Given the description of an element on the screen output the (x, y) to click on. 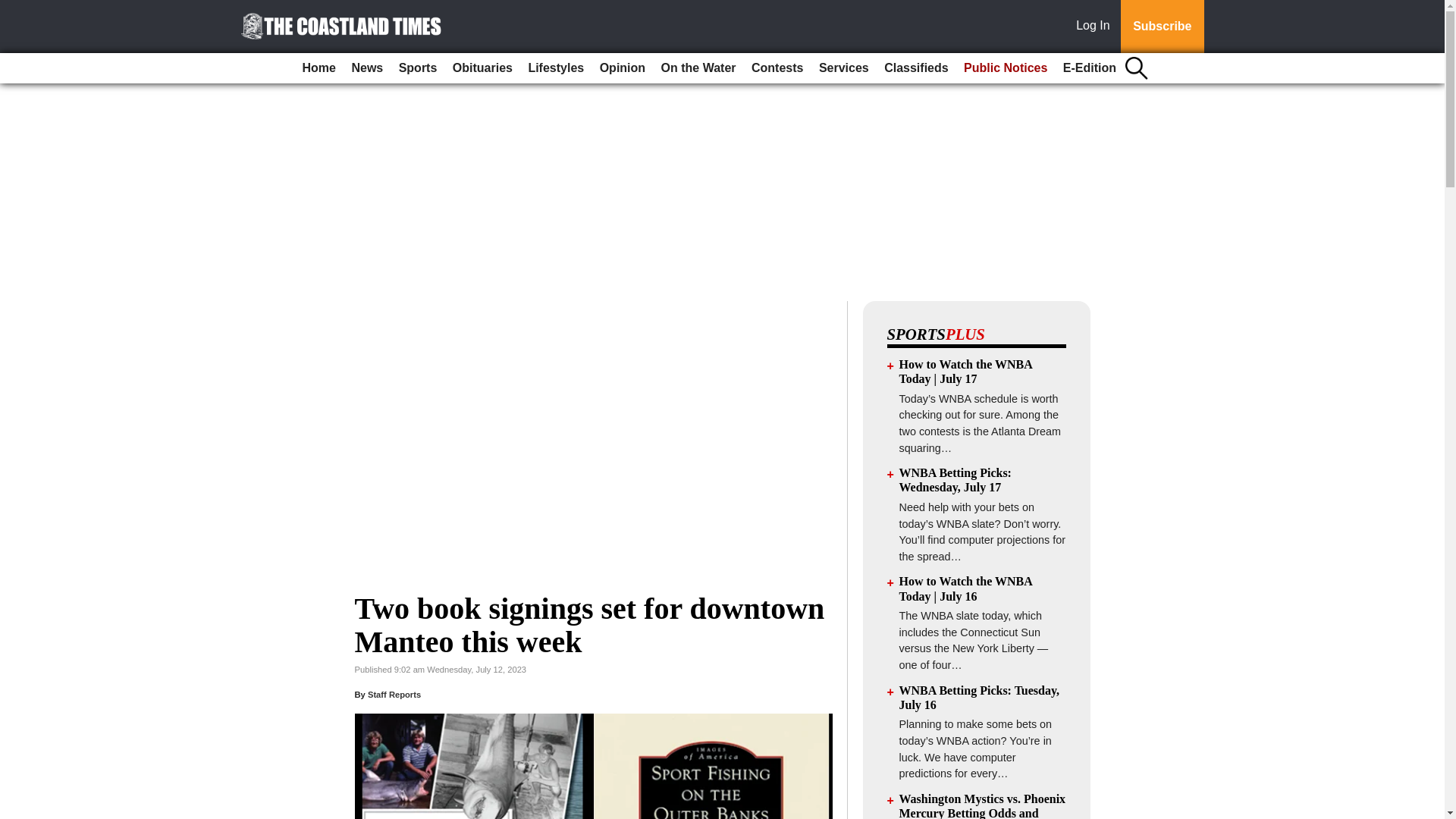
Lifestyles (555, 68)
Subscribe (1162, 26)
Go (13, 9)
Staff Reports (394, 694)
Public Notices (1005, 68)
Log In (1095, 26)
Services (843, 68)
Sports (418, 68)
Obituaries (482, 68)
Home (319, 68)
Classifieds (915, 68)
Opinion (622, 68)
News (366, 68)
On the Water (698, 68)
Contests (777, 68)
